Given the description of an element on the screen output the (x, y) to click on. 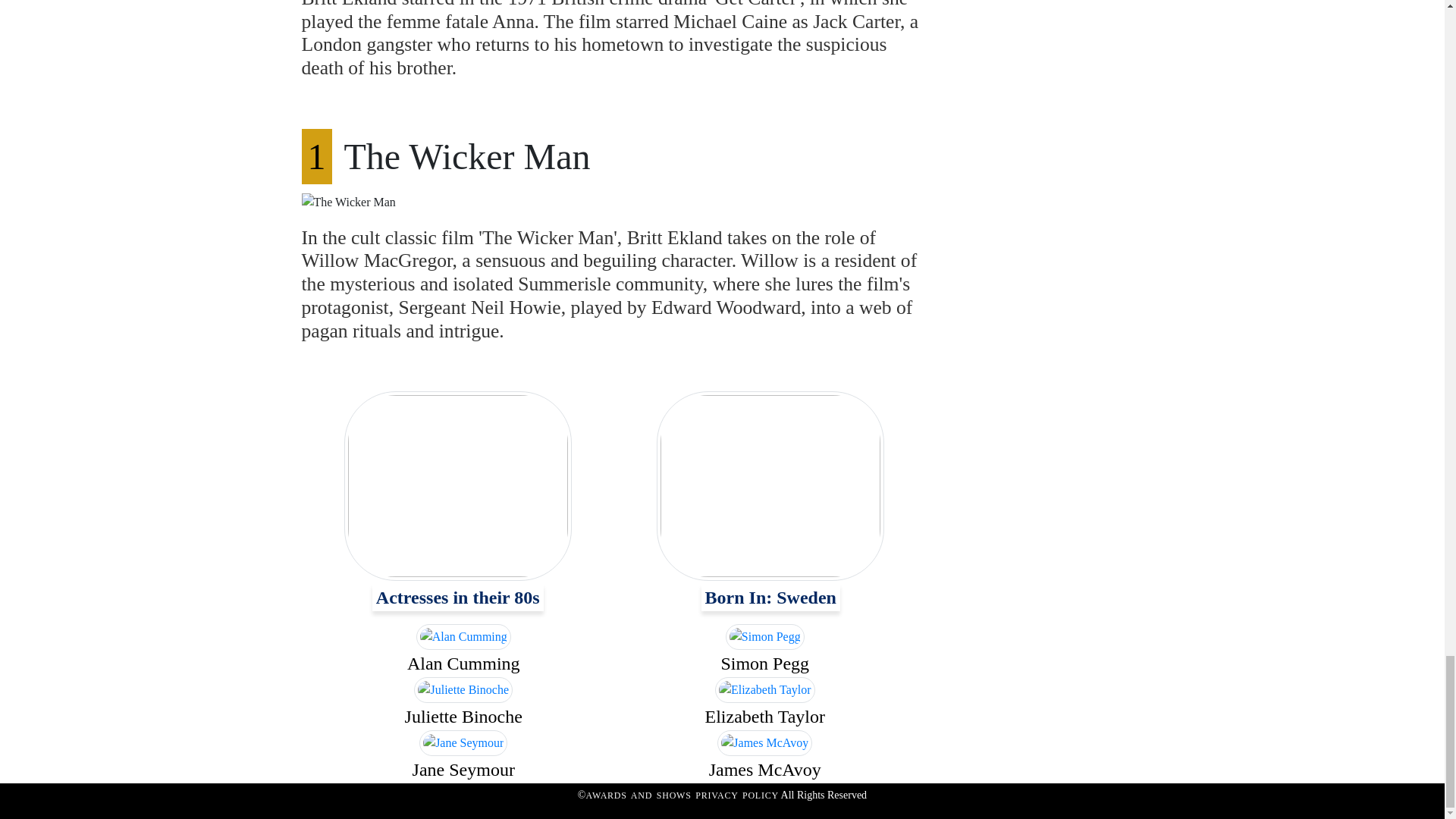
Born In: Sweden (770, 596)
Jane Seymour (463, 769)
Simon Pegg (764, 663)
James McAvoy (765, 769)
Juliette Binoche (463, 716)
Actresses in their 80s (457, 596)
Alan Cumming (463, 663)
AWARDS AND SHOWS (640, 795)
Elizabeth Taylor (764, 716)
PRIVACY POLICY (736, 795)
